Given the description of an element on the screen output the (x, y) to click on. 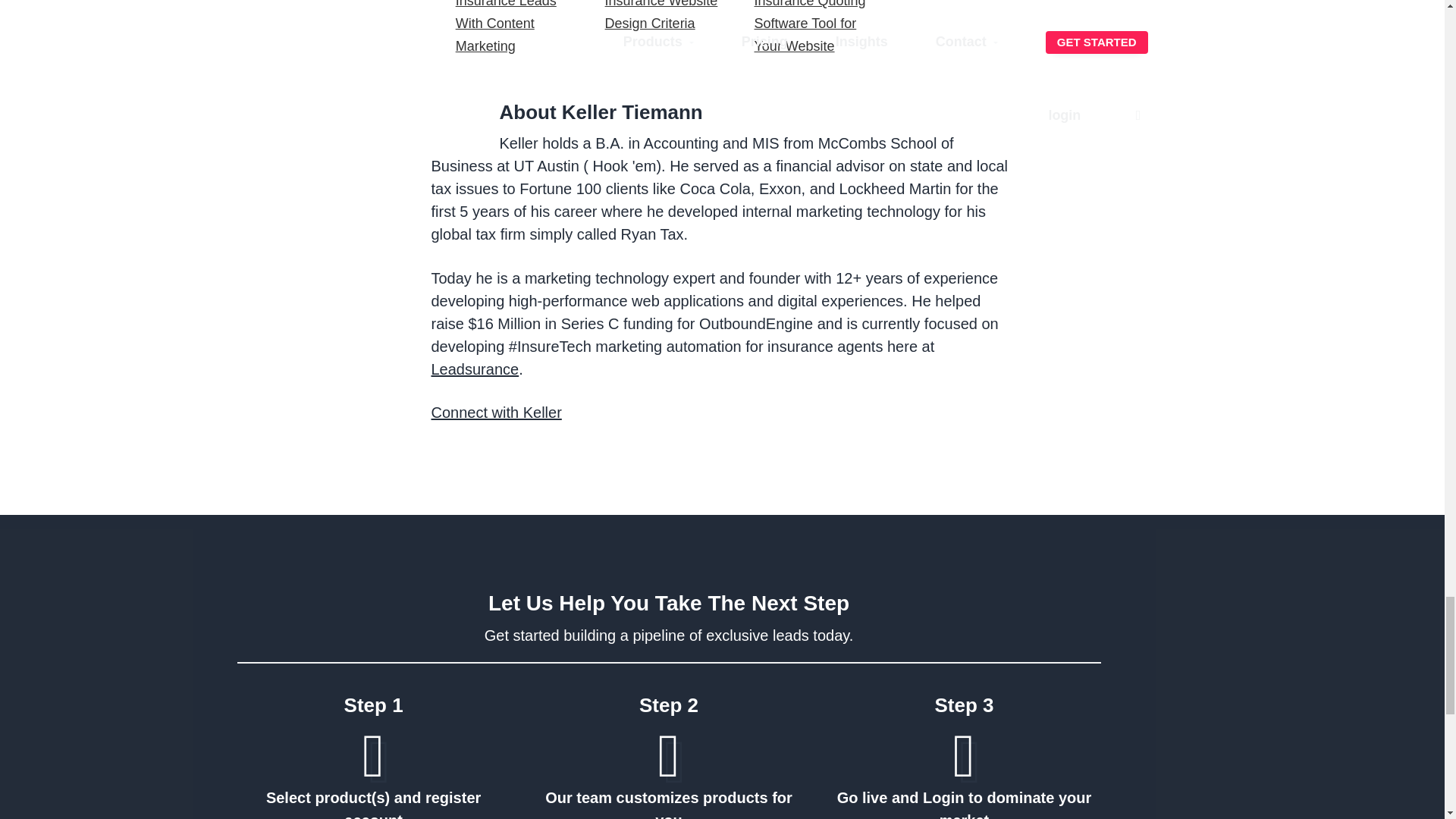
Top 6 Life Insurance Website Design Criteria (661, 15)
How to Get Life Insurance Leads With Content Marketing (505, 27)
